Given the description of an element on the screen output the (x, y) to click on. 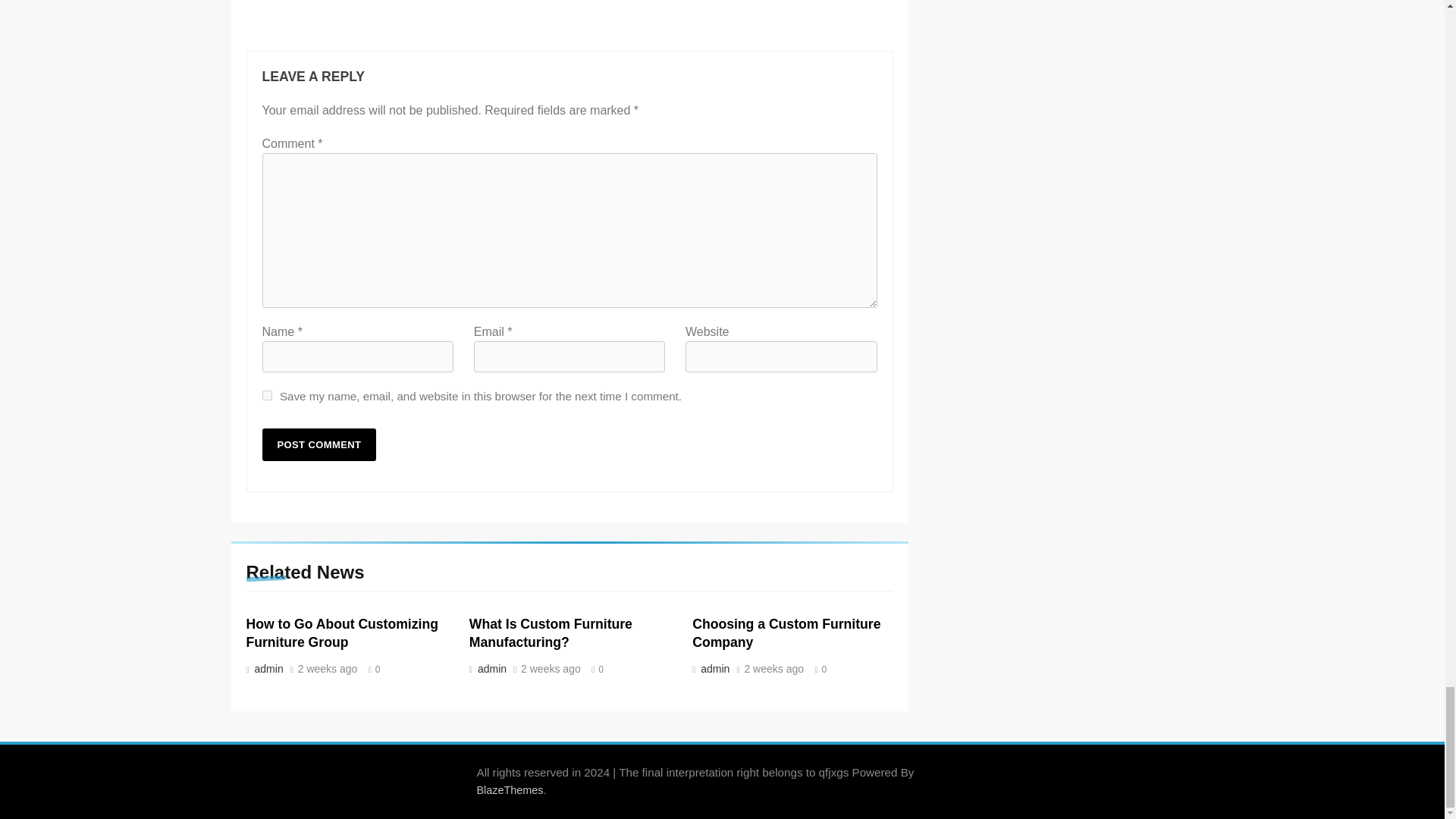
How to Go About Customizing Furniture Group (342, 633)
Post Comment (319, 444)
yes (267, 395)
admin (267, 668)
admin (490, 668)
2 weeks ago (550, 669)
admin (714, 668)
Choosing a Custom Furniture Company (786, 633)
What Is Custom Furniture Manufacturing? (549, 633)
Post Comment (319, 444)
2 weeks ago (328, 669)
2 weeks ago (773, 669)
